Given the description of an element on the screen output the (x, y) to click on. 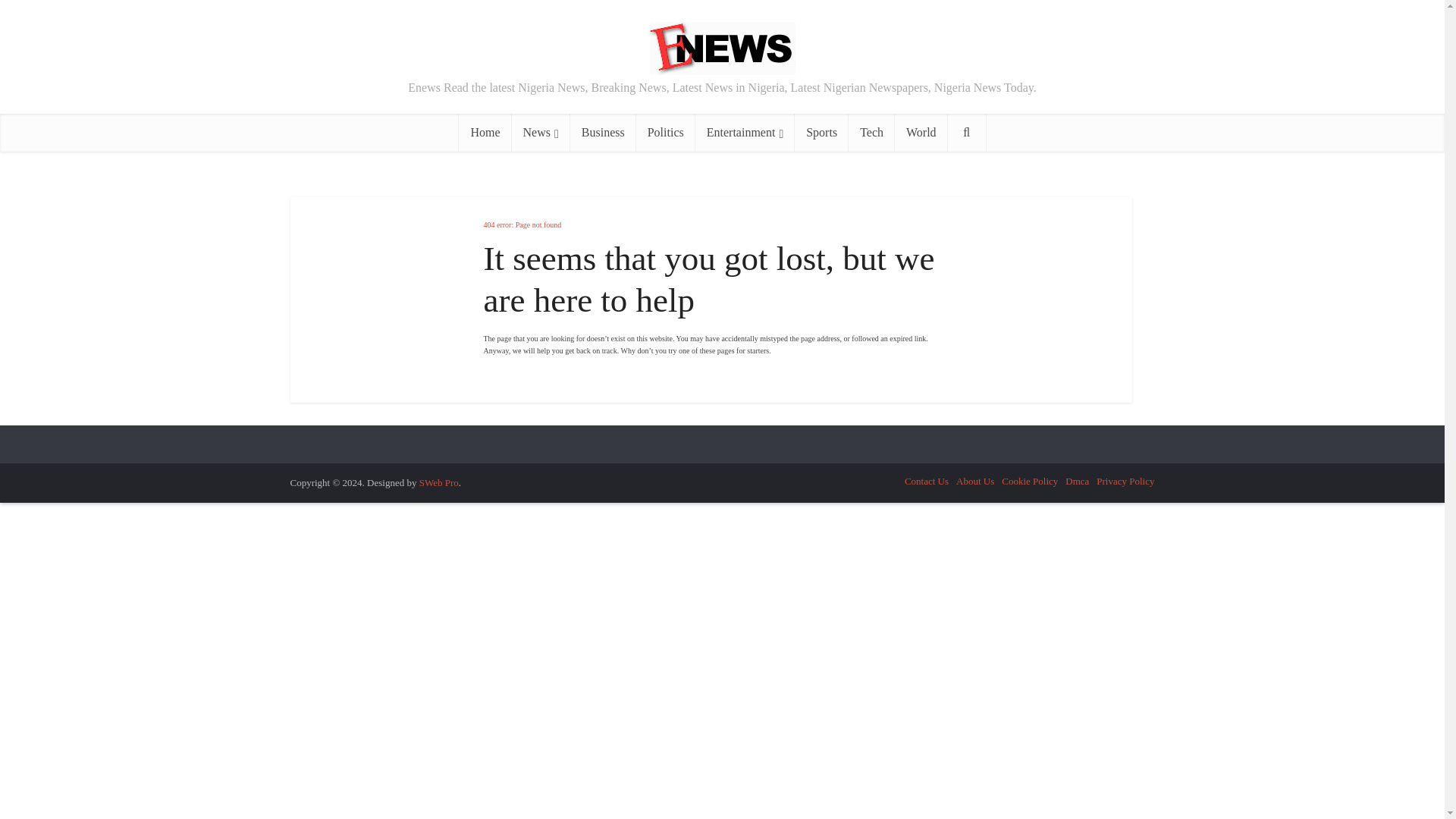
Contact Us (926, 480)
World (921, 132)
Politics (665, 132)
Home (484, 132)
Dmca (1077, 480)
About Us (975, 480)
SWeb Pro (438, 482)
Privacy Policy (1125, 480)
Cookie Policy (1029, 480)
Sports (821, 132)
Business (603, 132)
News (541, 132)
Tech (871, 132)
Entertainment (744, 132)
